Given the description of an element on the screen output the (x, y) to click on. 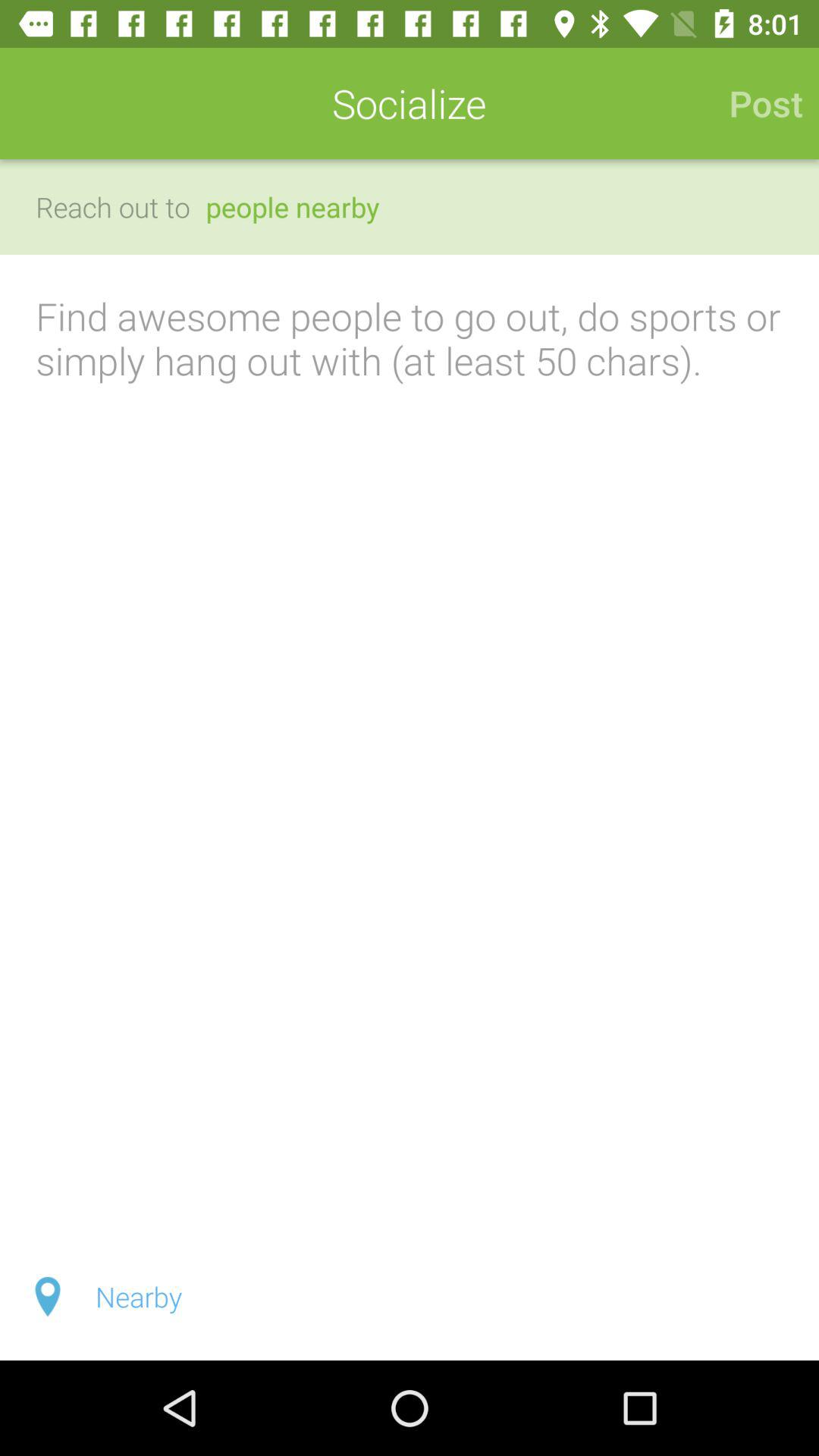
scroll until post icon (758, 103)
